Given the description of an element on the screen output the (x, y) to click on. 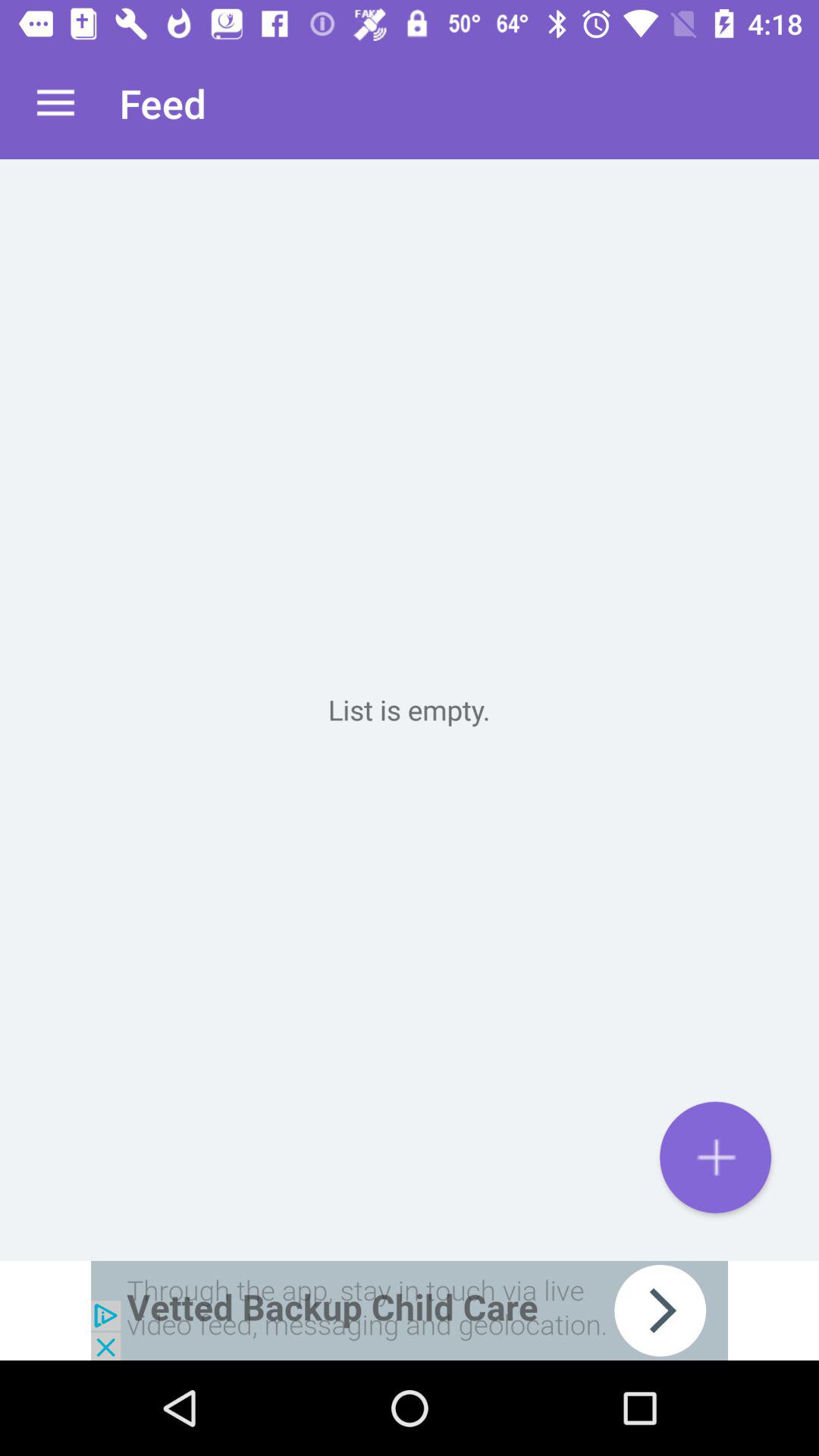
diskgrassland (409, 709)
